Given the description of an element on the screen output the (x, y) to click on. 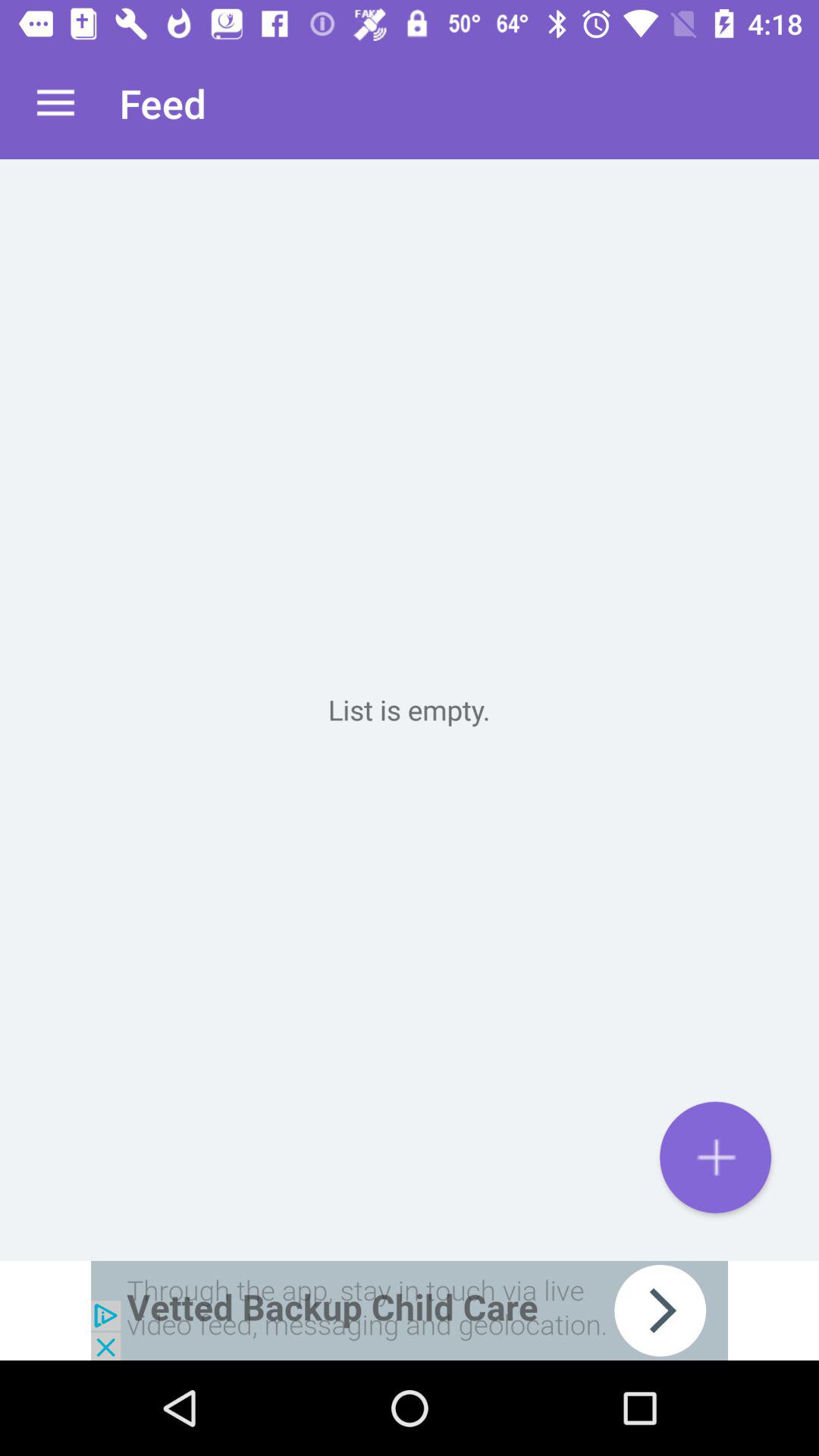
diskgrassland (409, 709)
